Given the description of an element on the screen output the (x, y) to click on. 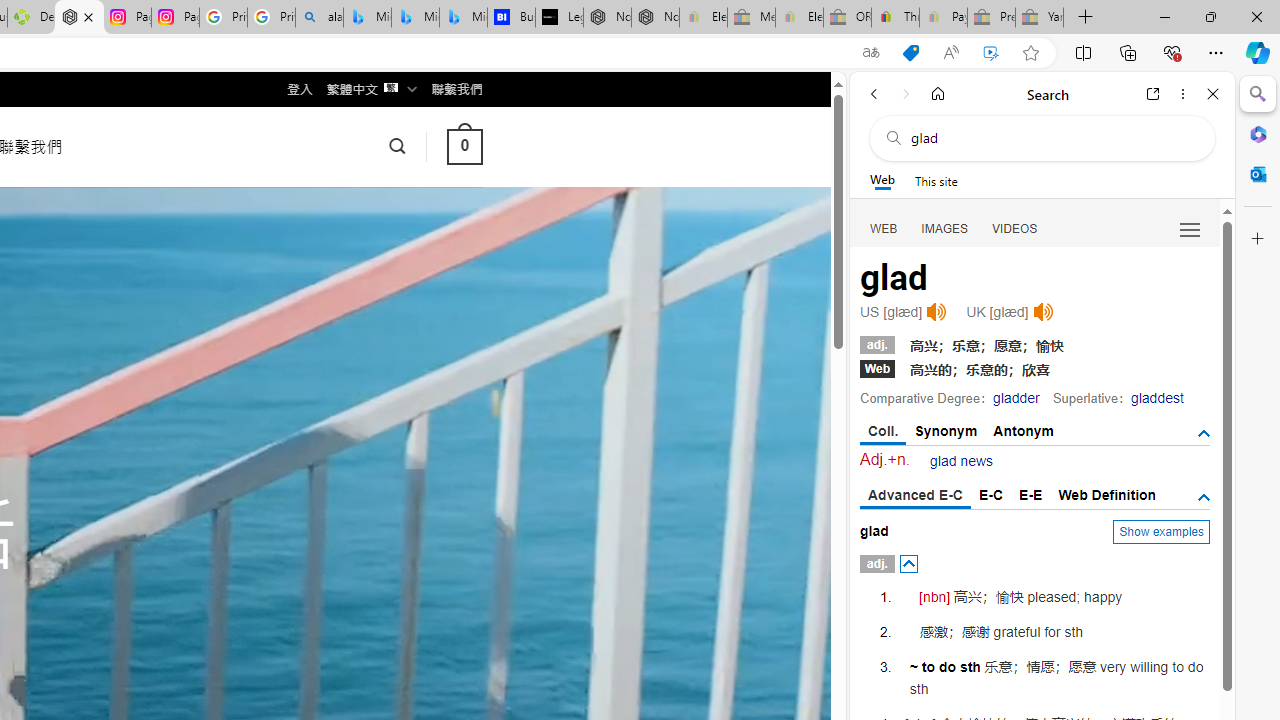
Forward (906, 93)
Show translate options (870, 53)
Microsoft Bing Travel - Flights from Hong Kong to Bangkok (367, 17)
Read aloud this page (Ctrl+Shift+U) (950, 53)
Coll. (883, 431)
AutomationID: posbtn_0 (908, 564)
Microsoft Bing Travel - Shangri-La Hotel Bangkok (463, 17)
Close tab (88, 16)
More options (1182, 93)
 0  (464, 146)
